Given the description of an element on the screen output the (x, y) to click on. 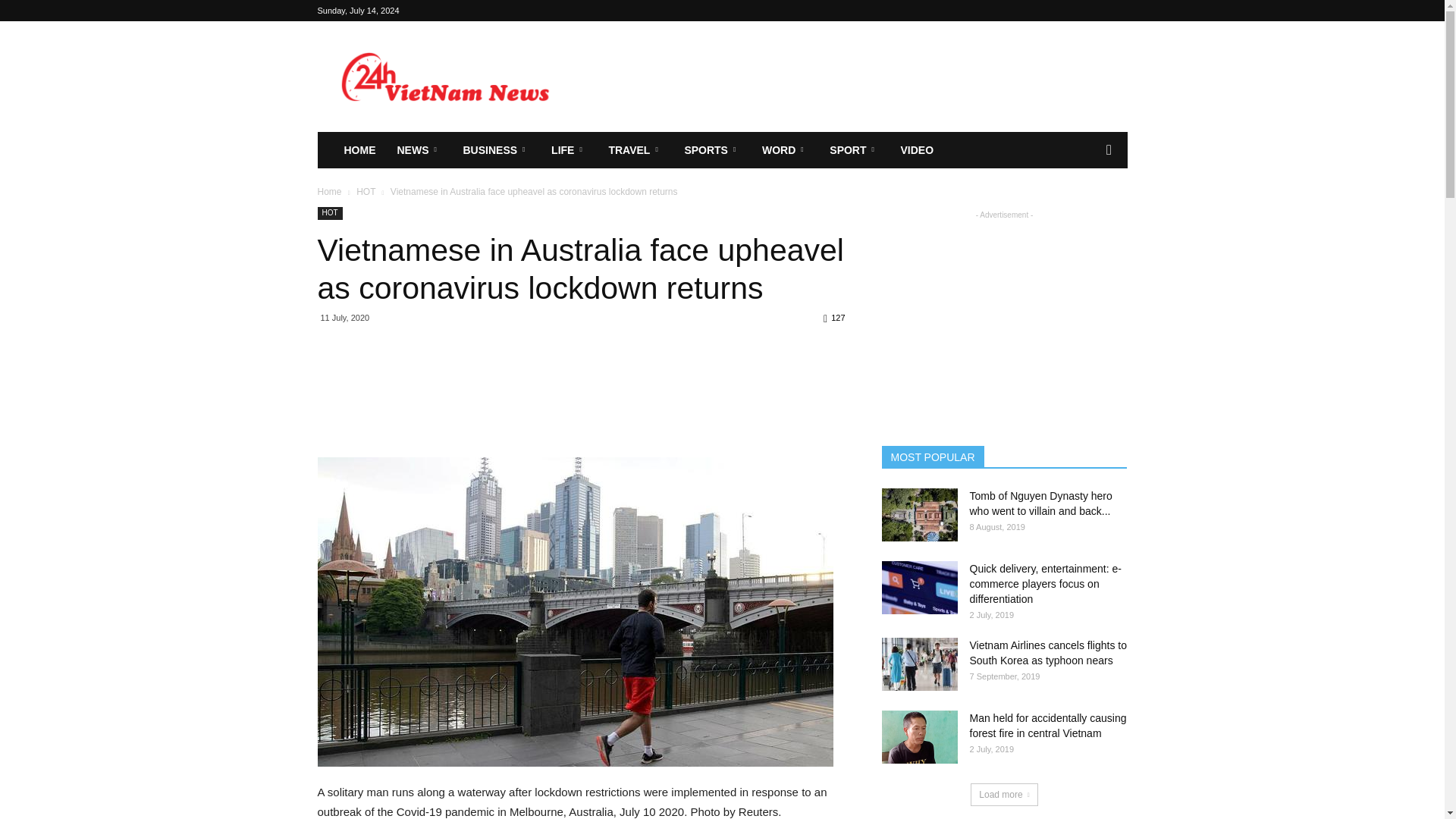
NEWS (419, 149)
HOME (360, 149)
